Given the description of an element on the screen output the (x, y) to click on. 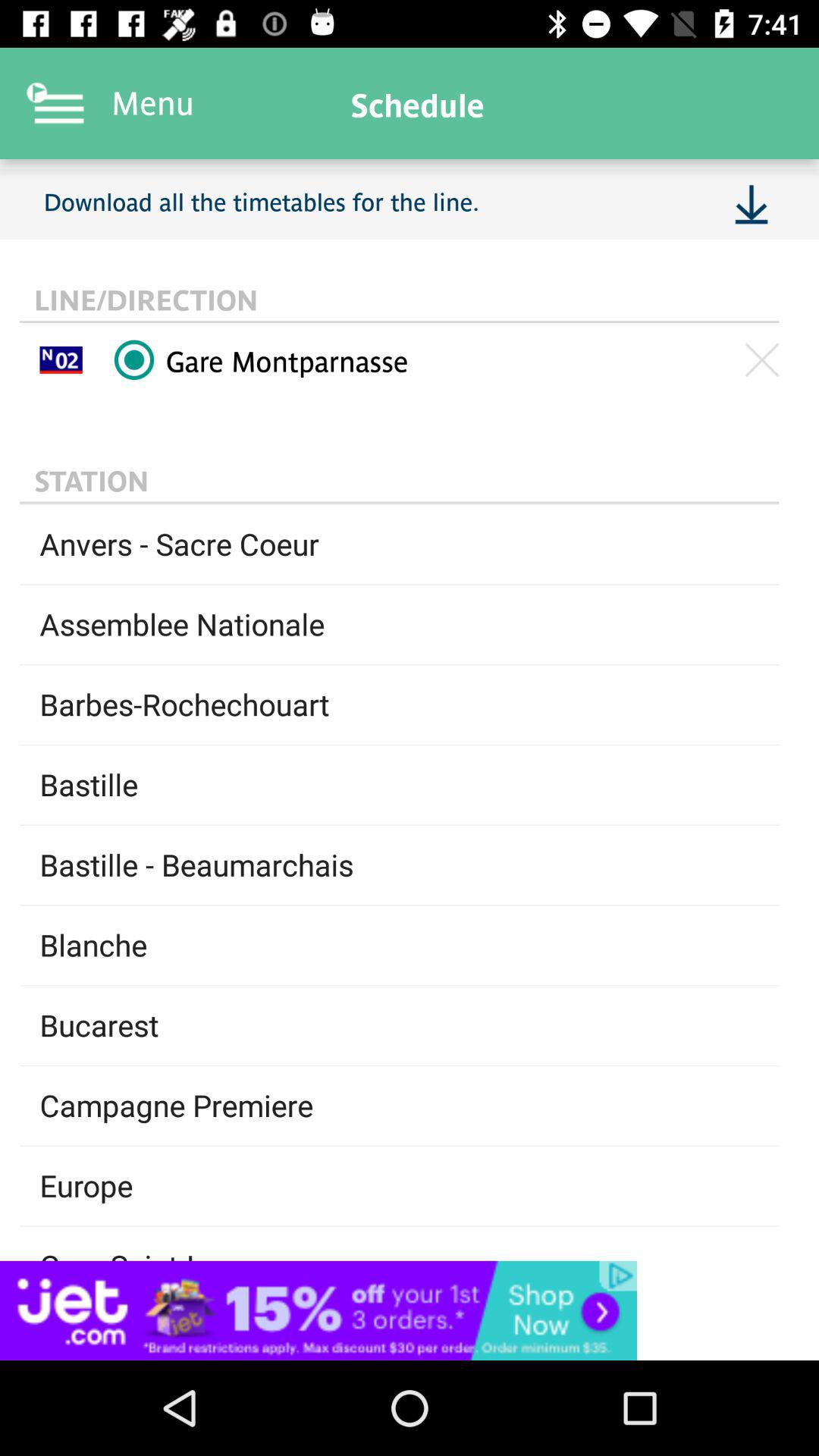
open advertisement (409, 1310)
